Given the description of an element on the screen output the (x, y) to click on. 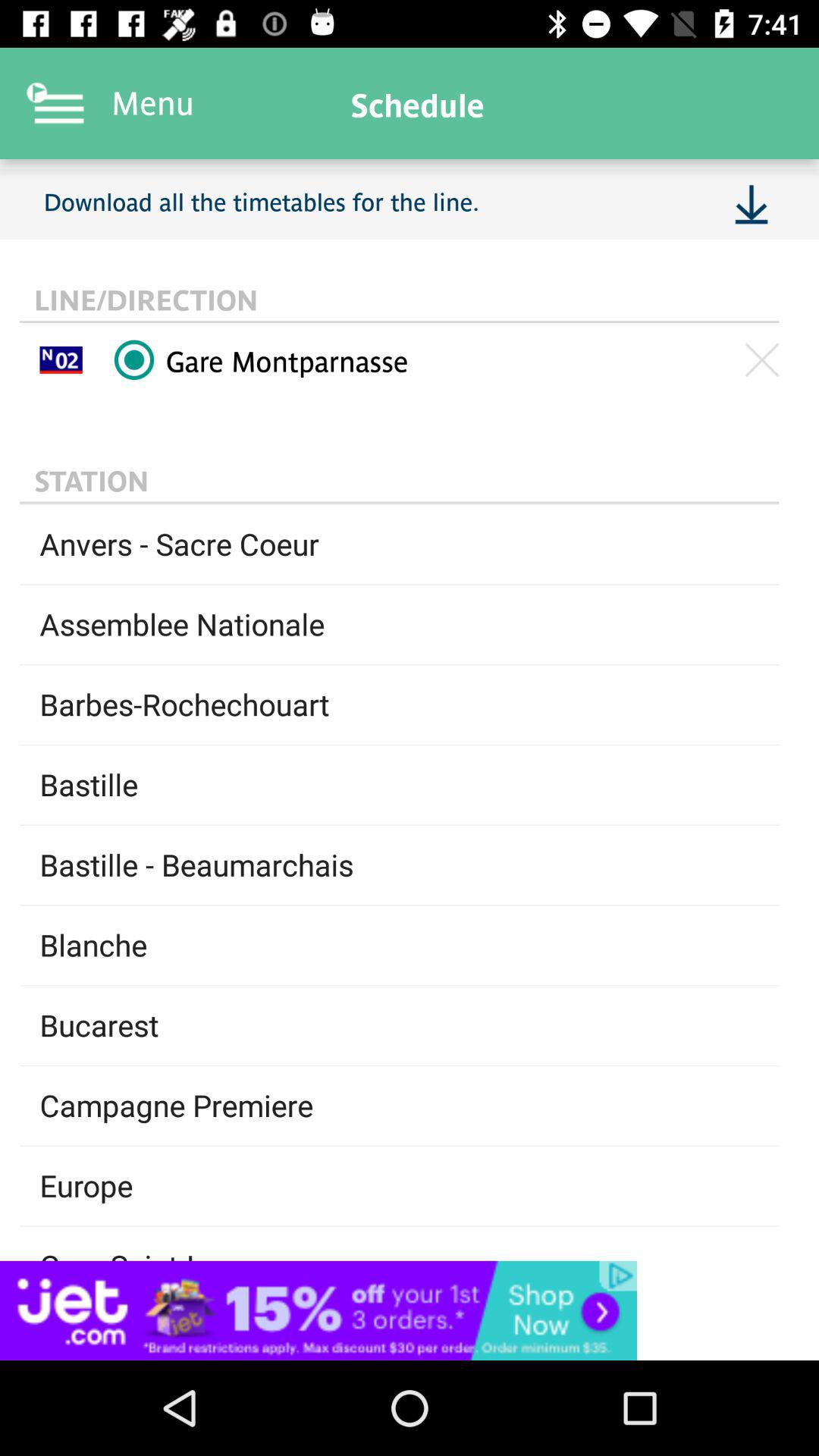
open advertisement (409, 1310)
